Given the description of an element on the screen output the (x, y) to click on. 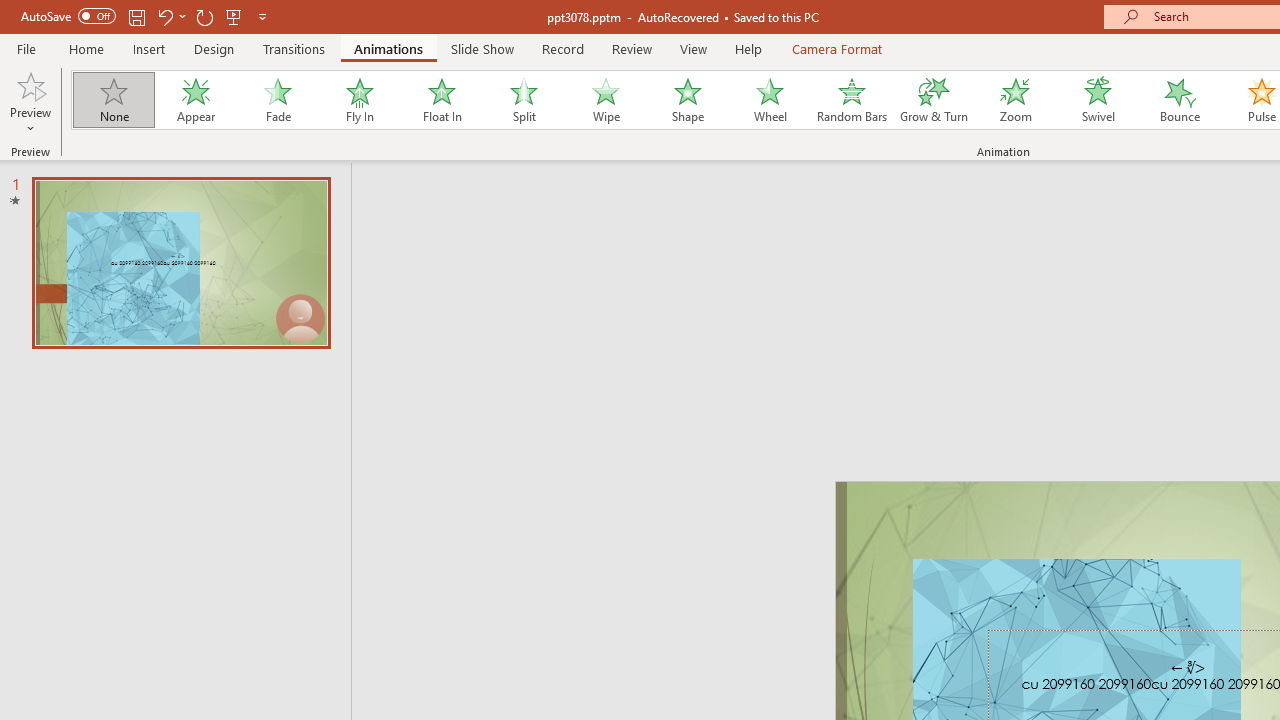
Fly In (359, 100)
Appear (195, 100)
Bounce (1180, 100)
